Given the description of an element on the screen output the (x, y) to click on. 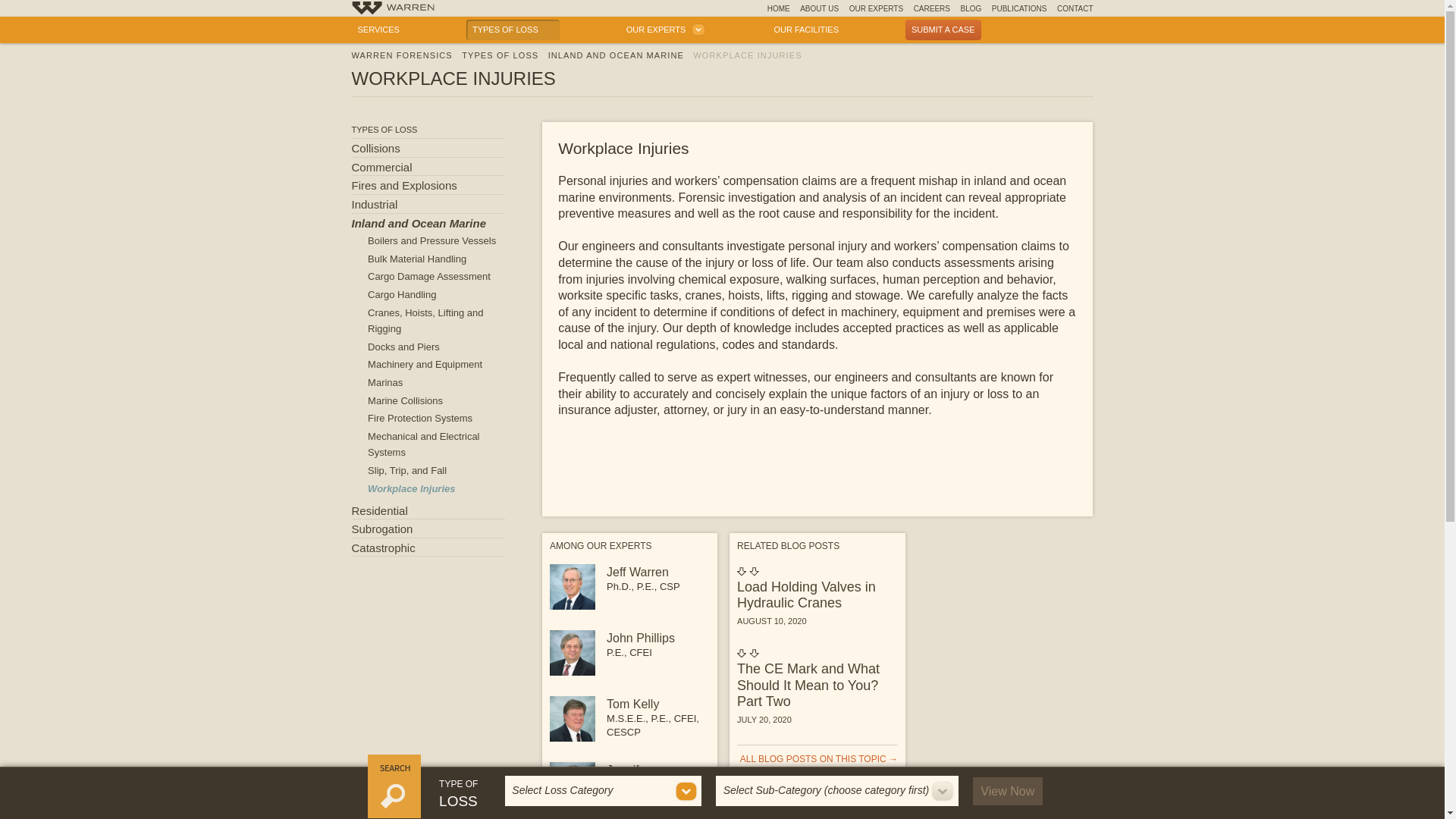
OUR EXPERTS (876, 8)
PUBLICATIONS (1018, 8)
HOME (778, 8)
BLOG (970, 8)
ABOUT US (818, 8)
Go to Warren Forensics. (402, 54)
CAREERS (932, 8)
OUR EXPERTS (663, 29)
Go to Inland and Ocean Marine. (616, 54)
SUBMIT A CASE (943, 29)
SERVICES (379, 29)
TYPES OF LOSS (512, 29)
Warren Forensics (392, 8)
OUR FACILITIES (805, 29)
CONTACT (1075, 8)
